Given the description of an element on the screen output the (x, y) to click on. 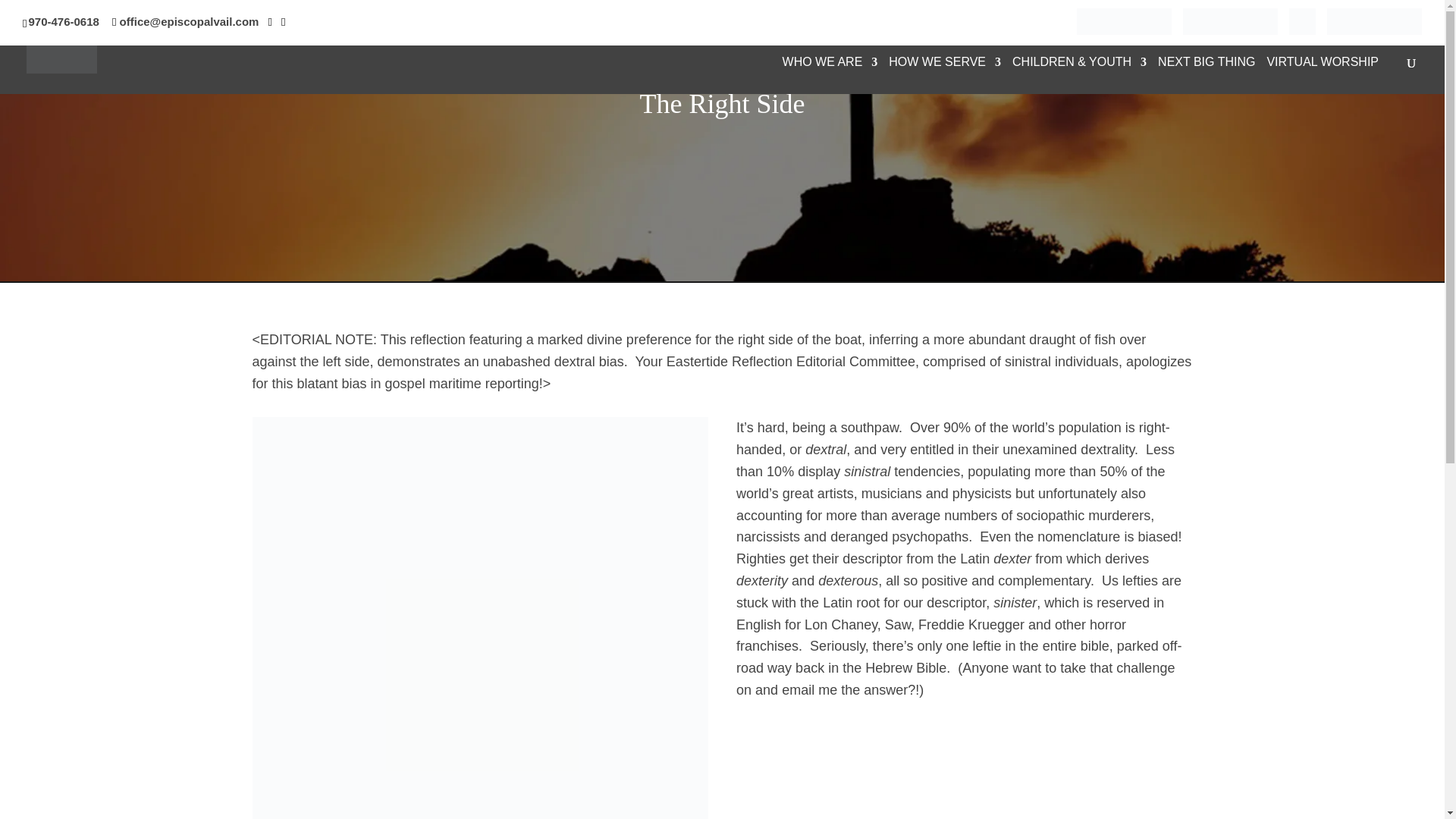
HOW WE SERVE (944, 65)
VIRTUAL WORSHIP (1322, 65)
NEXT BIG THING (1206, 65)
WHO WE ARE (830, 65)
